Given the description of an element on the screen output the (x, y) to click on. 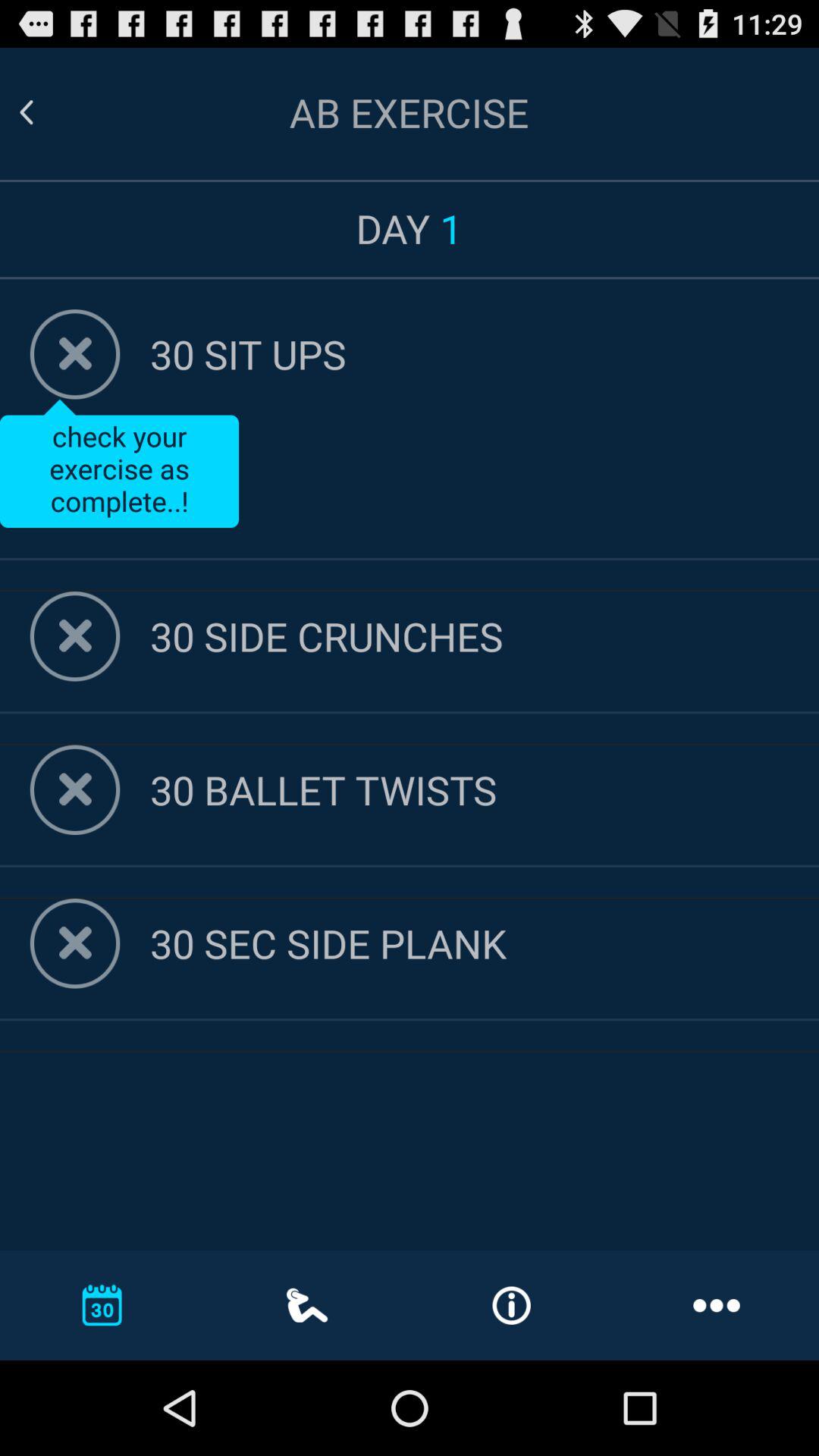
toggle action as complete (75, 636)
